Given the description of an element on the screen output the (x, y) to click on. 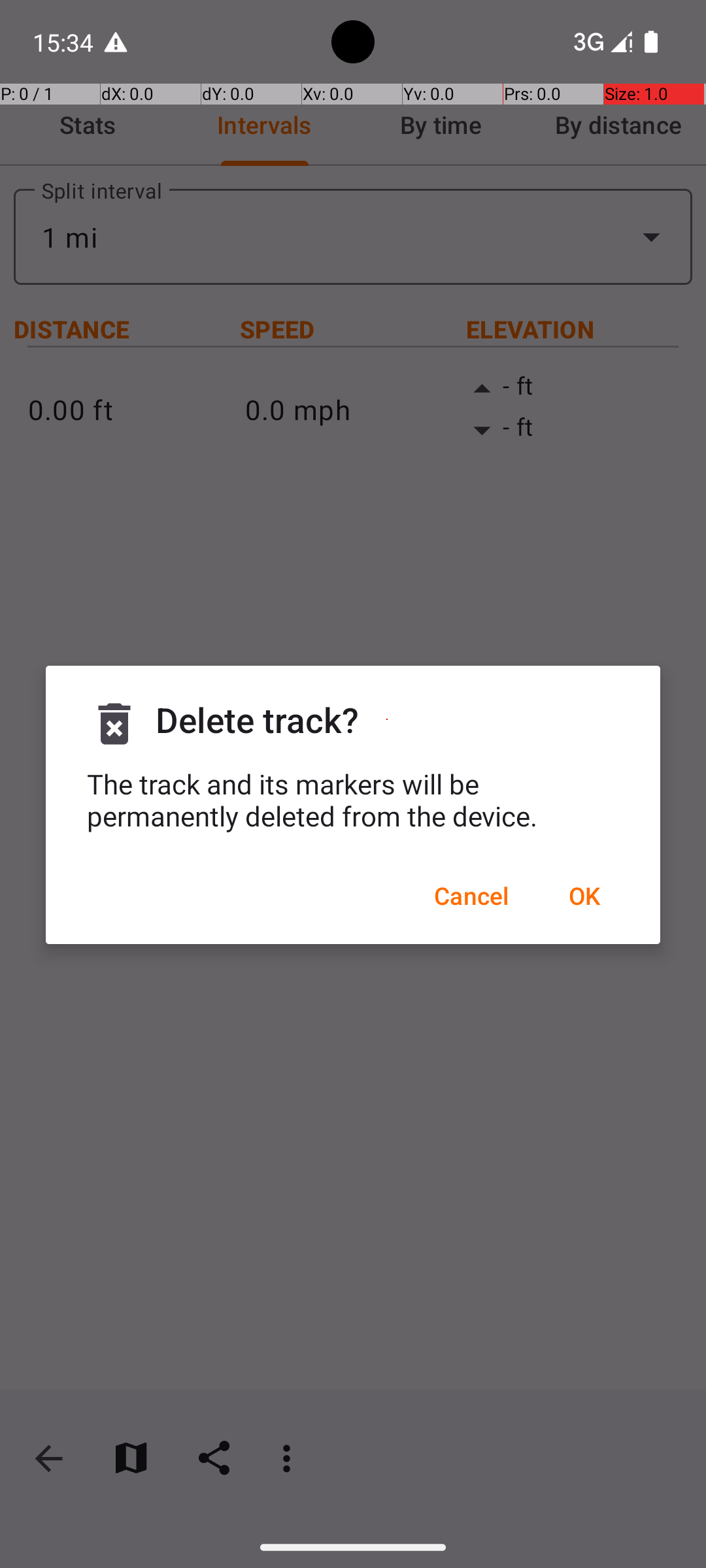
Delete track? Element type: android.widget.TextView (387, 719)
The track and its markers will be permanently deleted from the device. Element type: android.widget.TextView (352, 799)
